Given the description of an element on the screen output the (x, y) to click on. 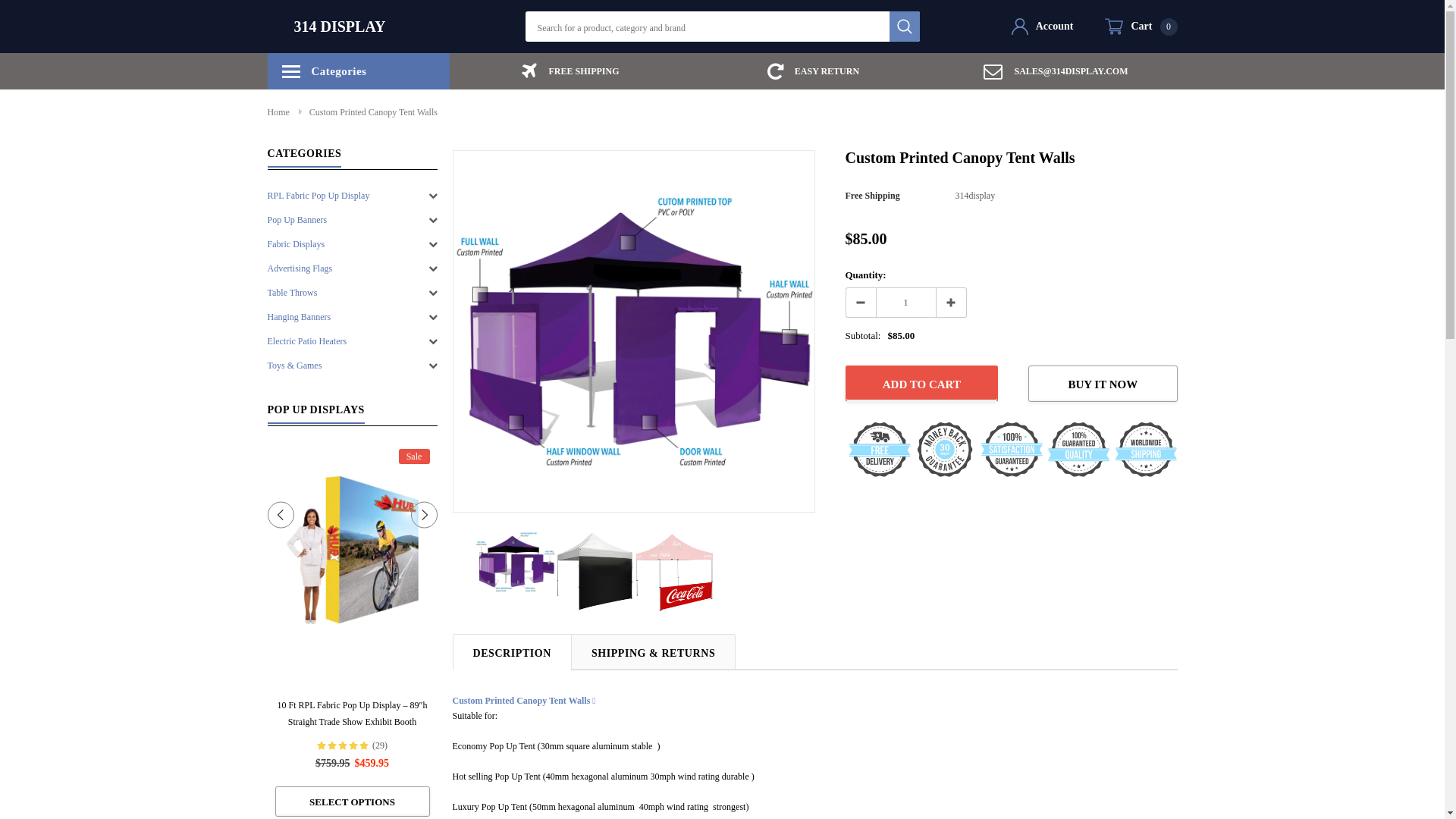
Select options Element type: text (351, 801)
Categories Element type: text (357, 71)
Select options Element type: text (861, 801)
Select options Element type: text (1030, 801)
SHIPPING & RETURNS Element type: text (653, 650)
Select options Element type: text (1200, 801)
314 DISPLAY Element type: text (339, 26)
Add to Cart Element type: text (920, 383)
Table Throws Element type: text (291, 292)
DESCRIPTION Element type: text (511, 650)
FREE SHIPPING Element type: text (570, 71)
Hanging Banners Element type: text (298, 316)
Select options Element type: text (1370, 801)
SALES@314DISPLAY.COM Element type: text (1055, 71)
RPL Fabric Pop Up Display Element type: text (317, 195)
EASY RETURN Element type: text (812, 71)
Fabric Displays Element type: text (295, 243)
BUY IT NOW Element type: text (1102, 383)
Electric Patio Heaters Element type: text (306, 340)
Select options Element type: text (181, 784)
Toys & Games Element type: text (293, 365)
Advertising Flags Element type: text (299, 268)
Pop Up Banners Element type: text (296, 219)
Account Element type: text (1042, 26)
Home Element type: text (277, 111)
Select options Element type: text (691, 801)
Cart
0 Element type: text (1140, 26)
Select options Element type: text (521, 801)
